Given the description of an element on the screen output the (x, y) to click on. 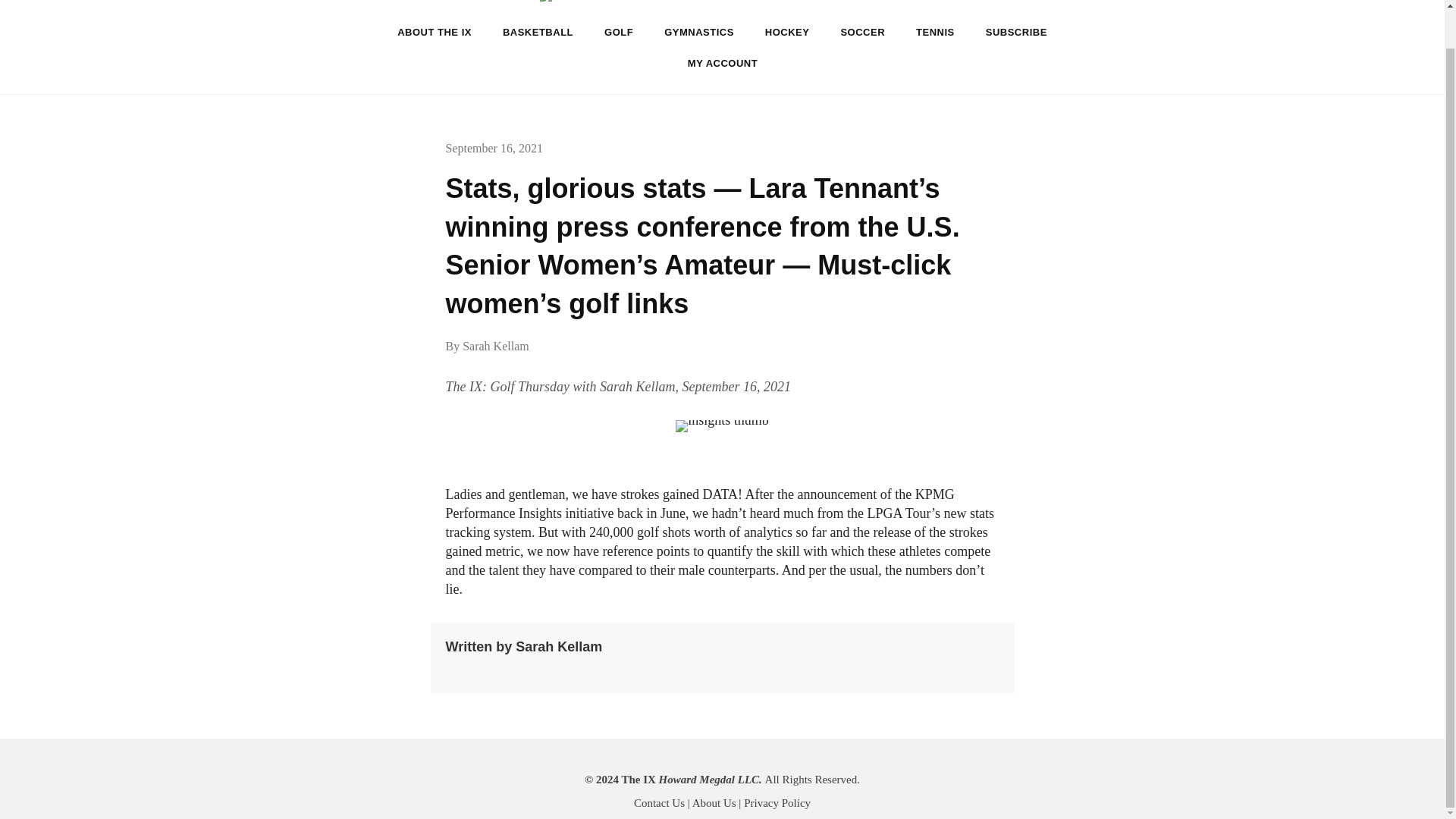
BASKETBALL (537, 31)
GYMNASTICS (699, 31)
ABOUT THE IX (433, 31)
TENNIS (935, 31)
SUBSCRIBE (1016, 31)
HOCKEY (787, 31)
GOLF (618, 31)
SOCCER (862, 31)
insights thumb (721, 426)
Sarah Kellam (496, 345)
